Given the description of an element on the screen output the (x, y) to click on. 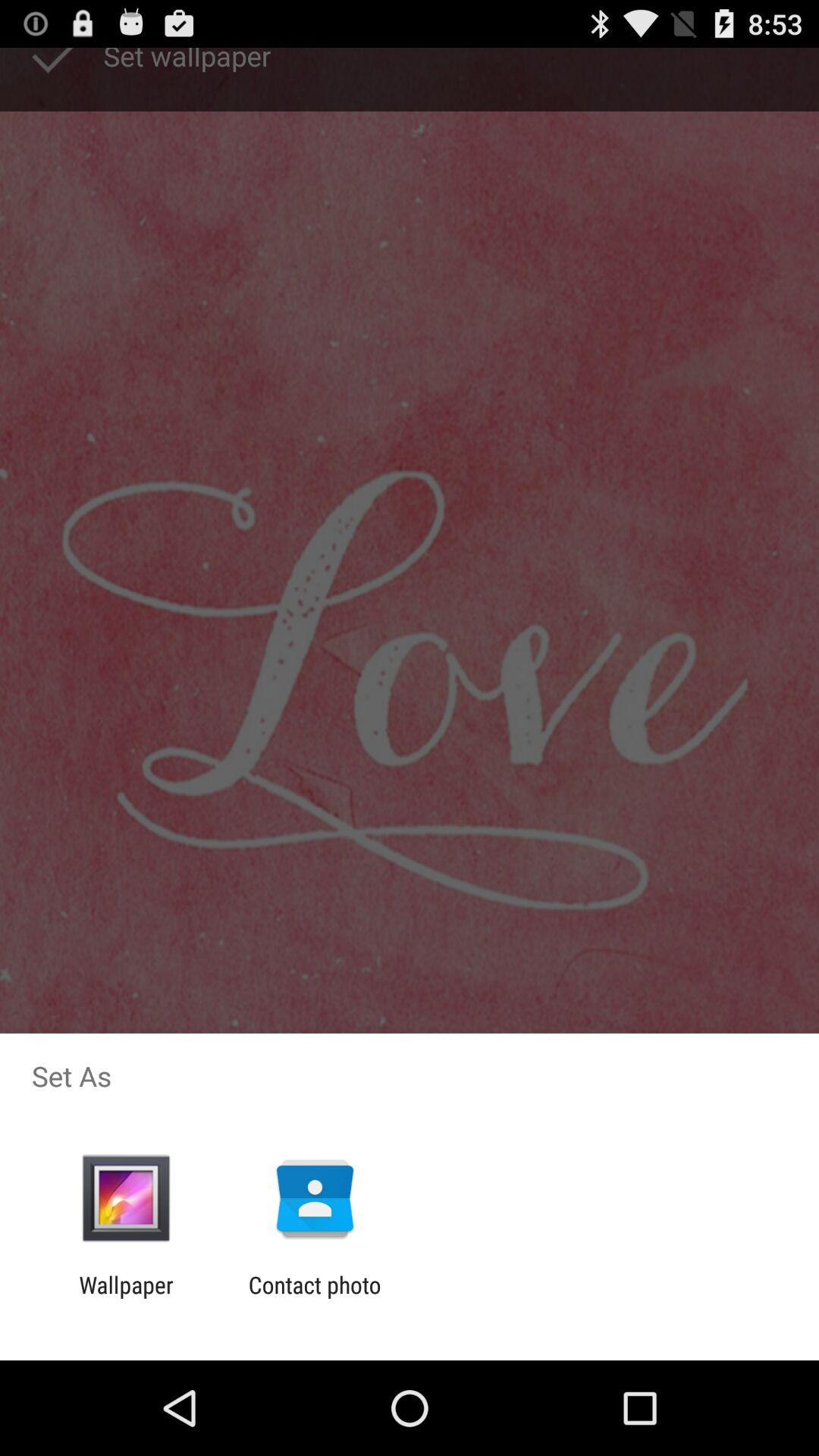
choose icon to the right of wallpaper item (314, 1298)
